Given the description of an element on the screen output the (x, y) to click on. 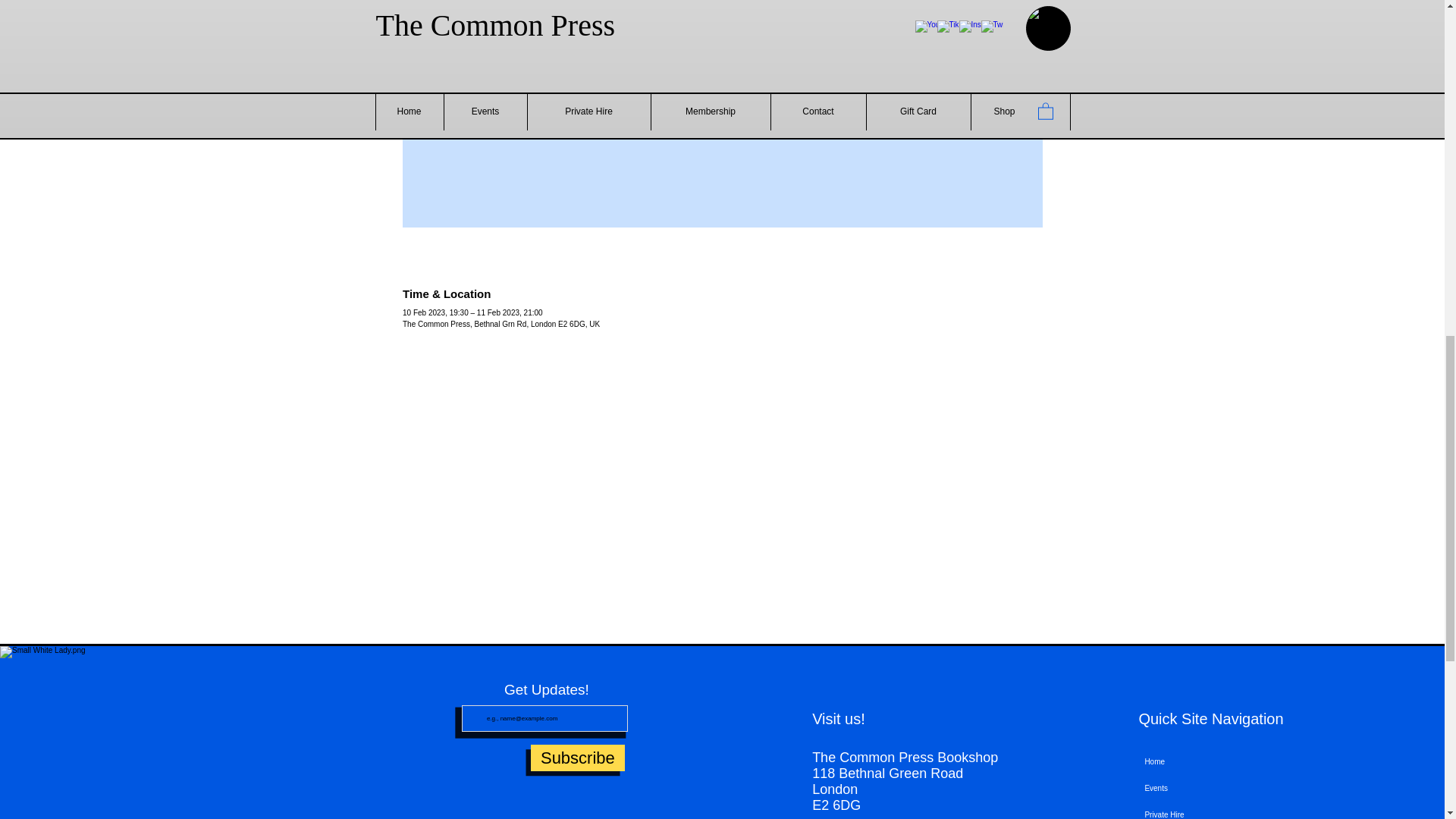
Events (1236, 787)
Subscribe (577, 757)
Home (1236, 761)
Private Hire (1236, 810)
